Given the description of an element on the screen output the (x, y) to click on. 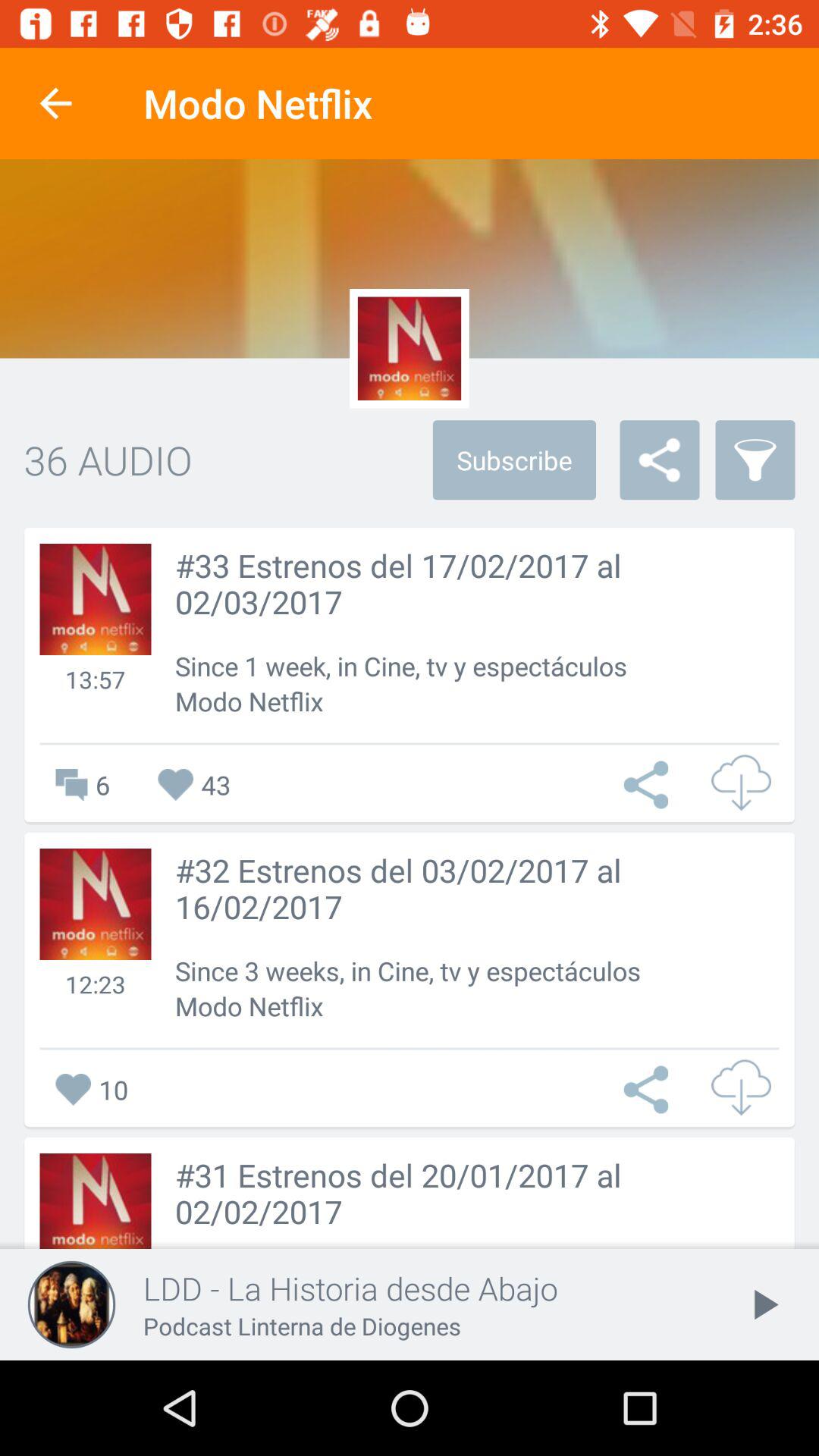
open menu (649, 784)
